Given the description of an element on the screen output the (x, y) to click on. 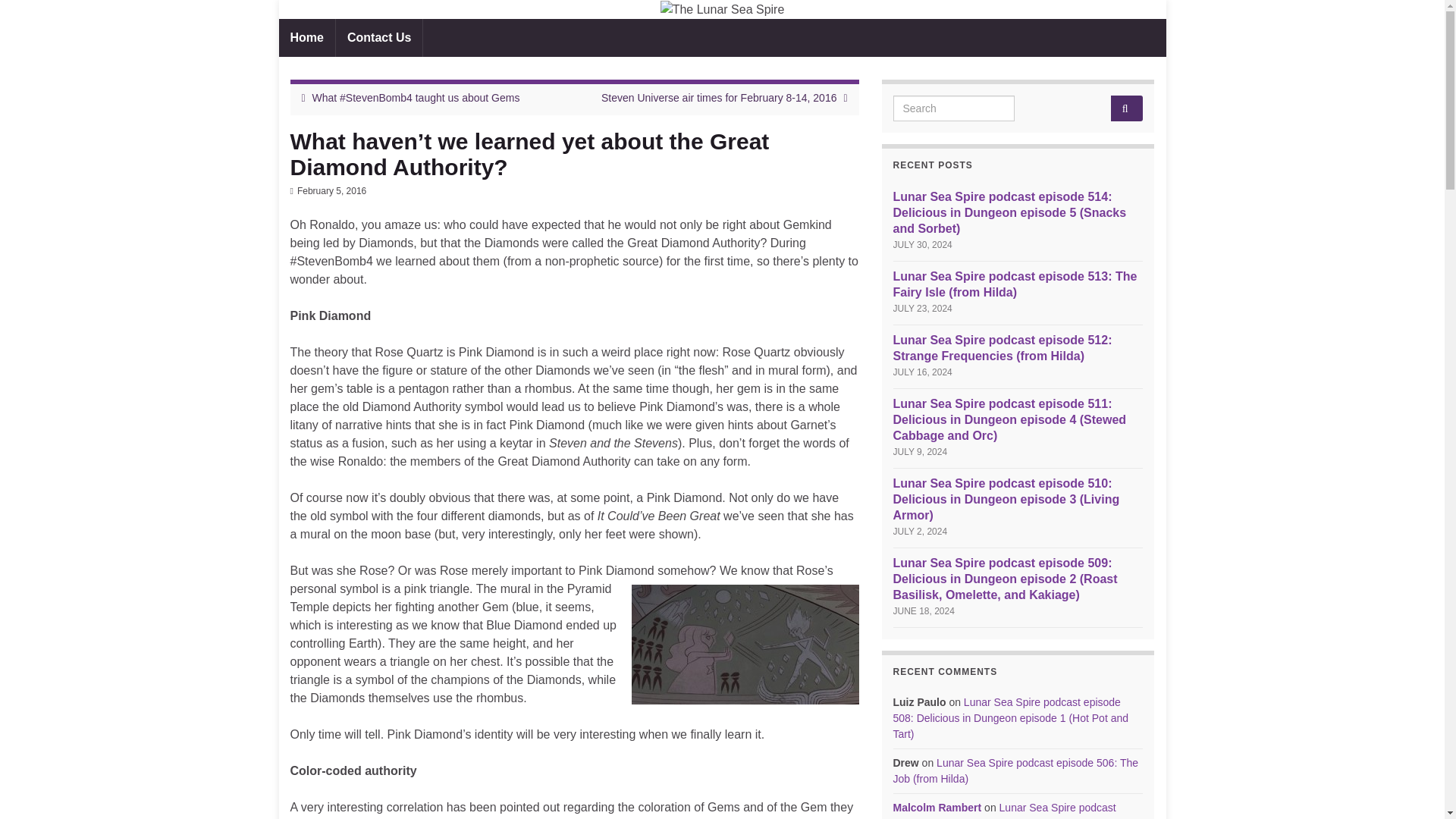
Malcolm Rambert (937, 807)
Steven Universe air times for February 8-14, 2016 (718, 97)
The Lunar Sea Spire (722, 9)
2016-02-05T12:00:21-06:00 (331, 190)
Contact Us (379, 37)
Home (306, 37)
